Given the description of an element on the screen output the (x, y) to click on. 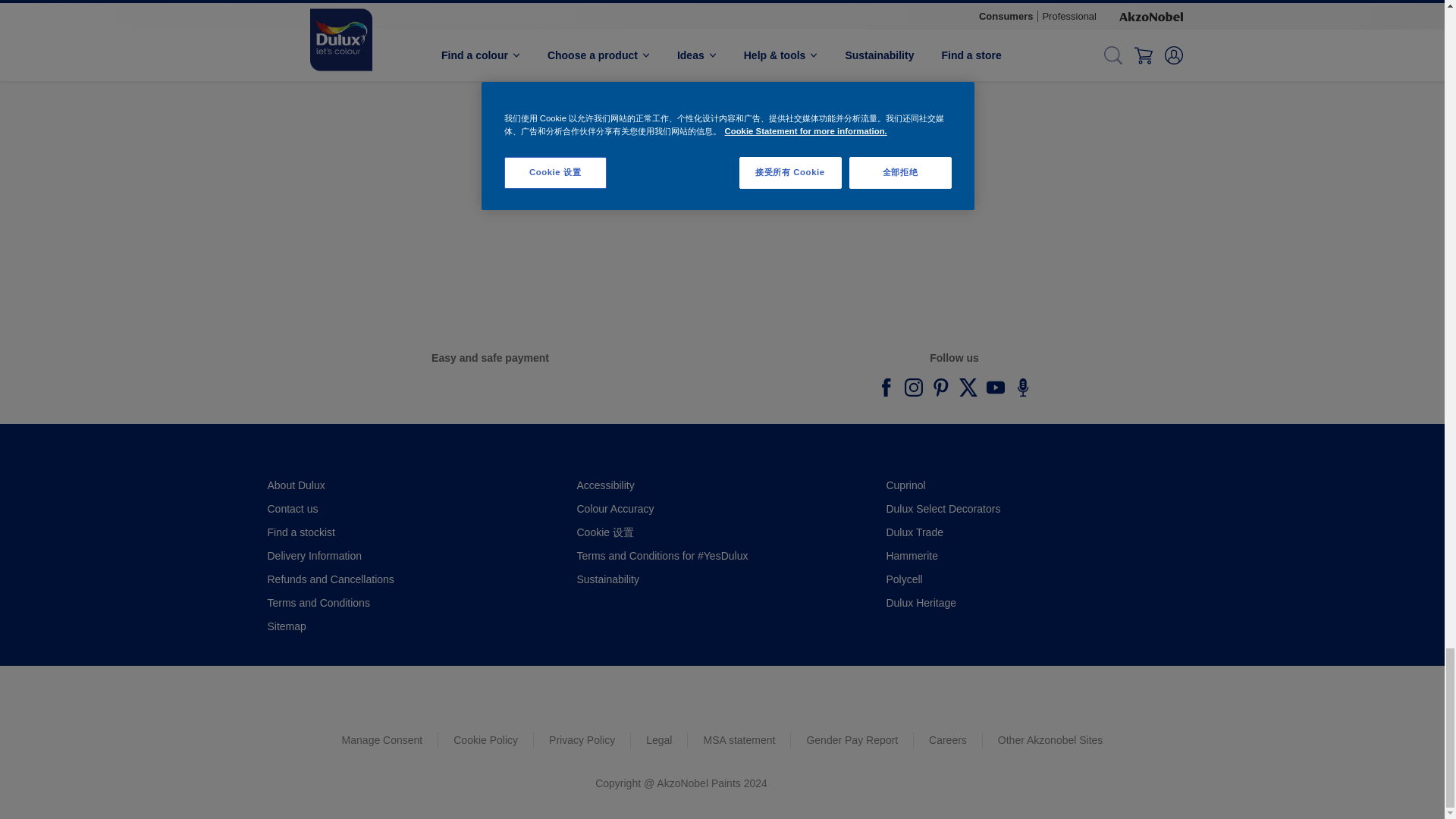
Follow us (885, 387)
Follow us (1022, 387)
Follow us (967, 387)
Follow us (939, 387)
Follow us (995, 387)
Follow us (912, 387)
